Given the description of an element on the screen output the (x, y) to click on. 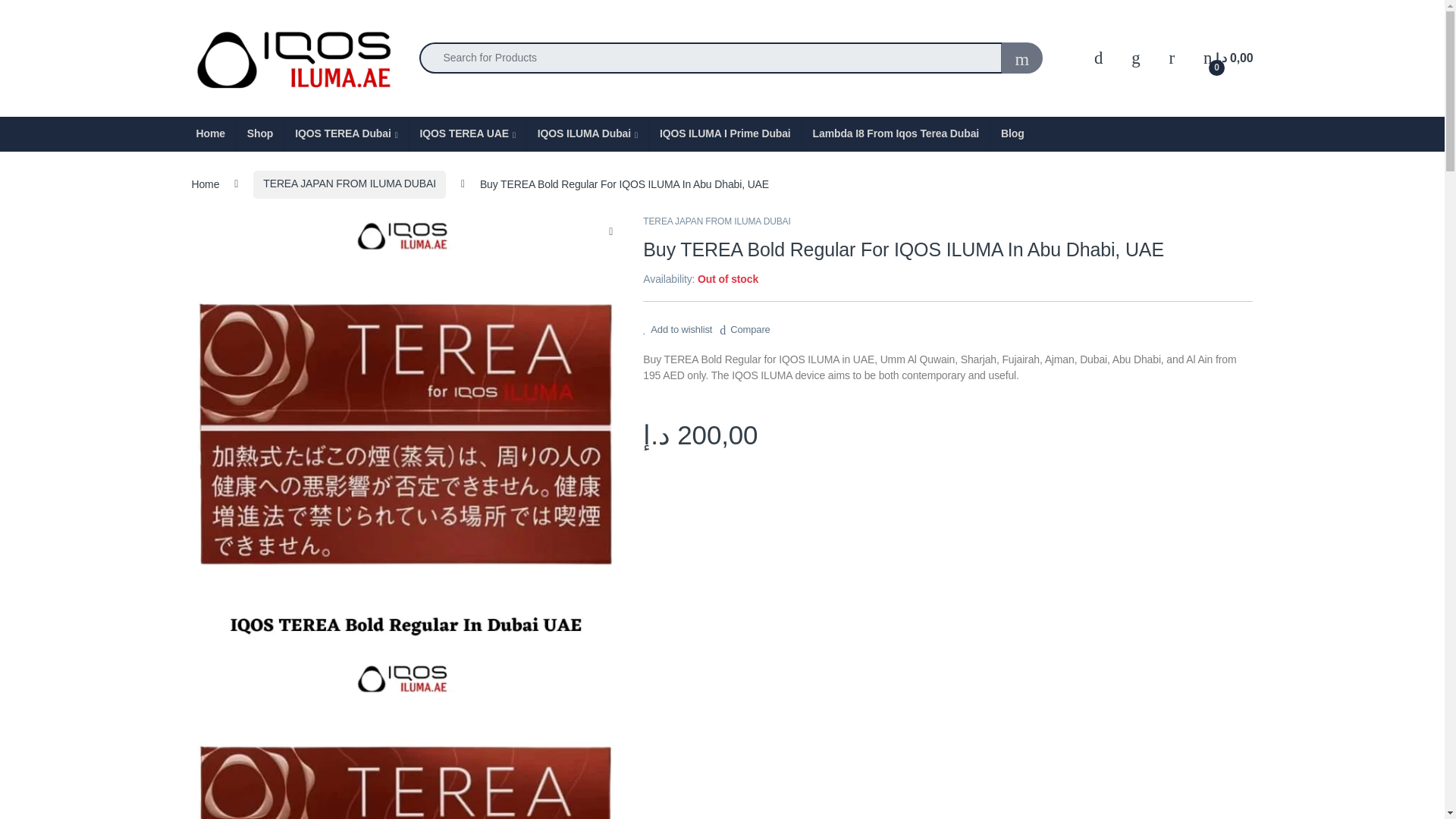
IQOS ILUMA Dubai (586, 134)
Shop (259, 134)
Home (209, 134)
IQOS TEREA UAE (467, 134)
IQOS TEREA Dubai (345, 134)
